Given the description of an element on the screen output the (x, y) to click on. 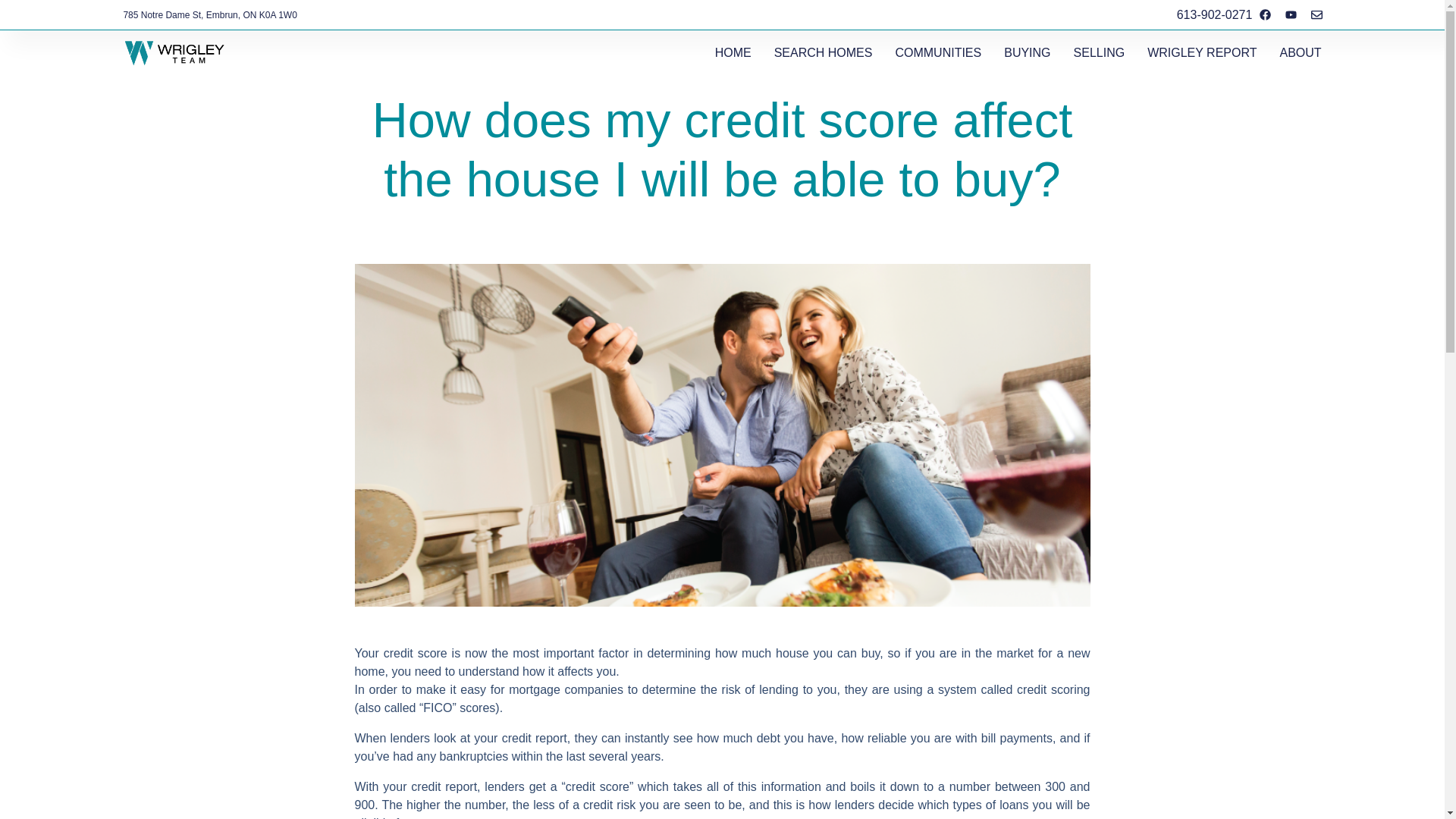
SELLING (1099, 53)
ABOUT (1299, 53)
HOME (732, 53)
613-902-0271 (1214, 14)
COMMUNITIES (938, 53)
SEARCH HOMES (823, 53)
BUYING (1026, 53)
WRIGLEY REPORT (1201, 53)
